Given the description of an element on the screen output the (x, y) to click on. 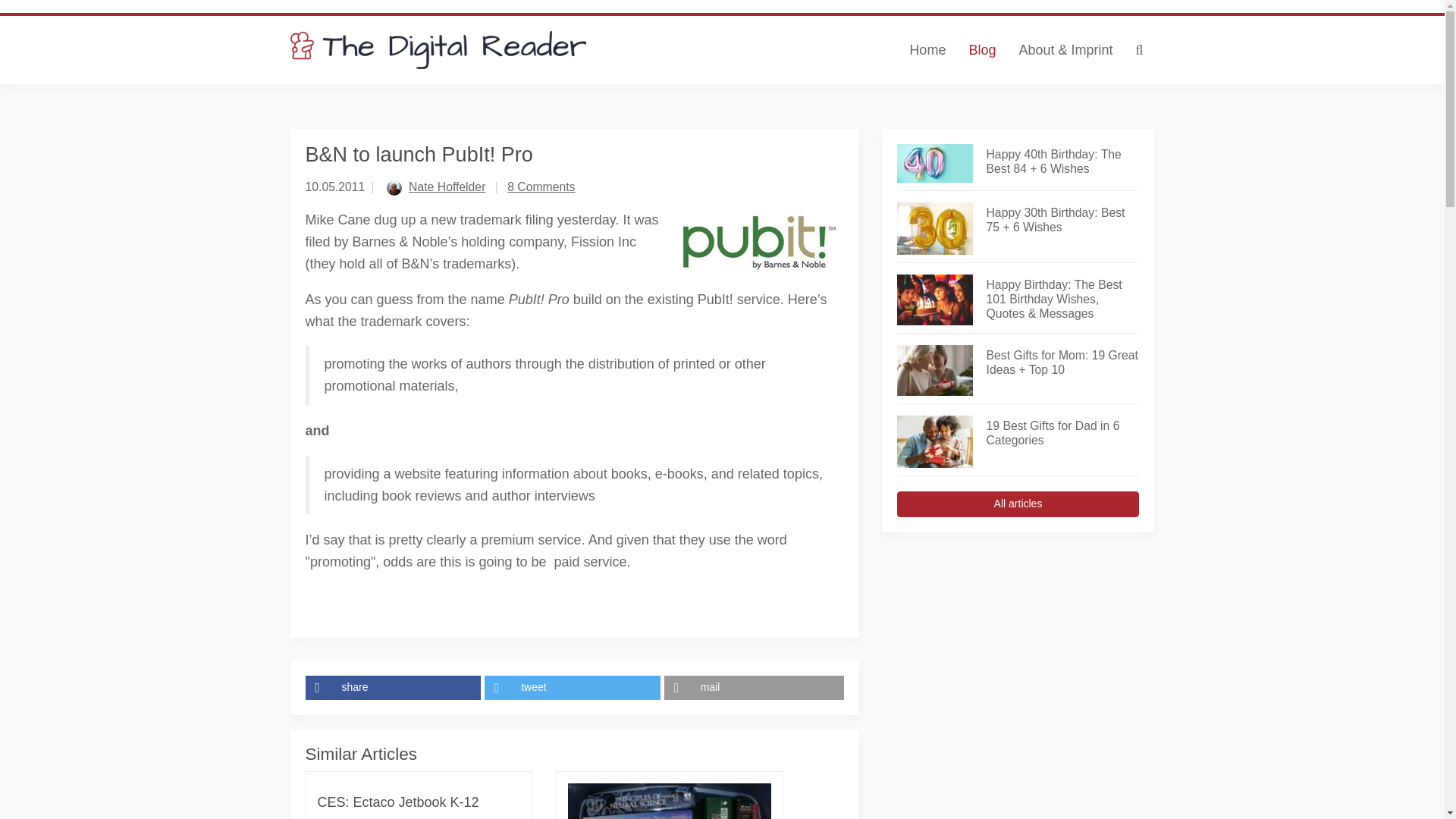
CES: Ectaco Jetbook K-12 (398, 802)
Blog (981, 49)
bn pubit logo (756, 242)
Nate Hoffelder (446, 186)
tweet (573, 687)
CES: Ectaco Jetbook K-12 (398, 802)
Home (927, 49)
share (394, 687)
The Digital Reader (437, 49)
